Given the description of an element on the screen output the (x, y) to click on. 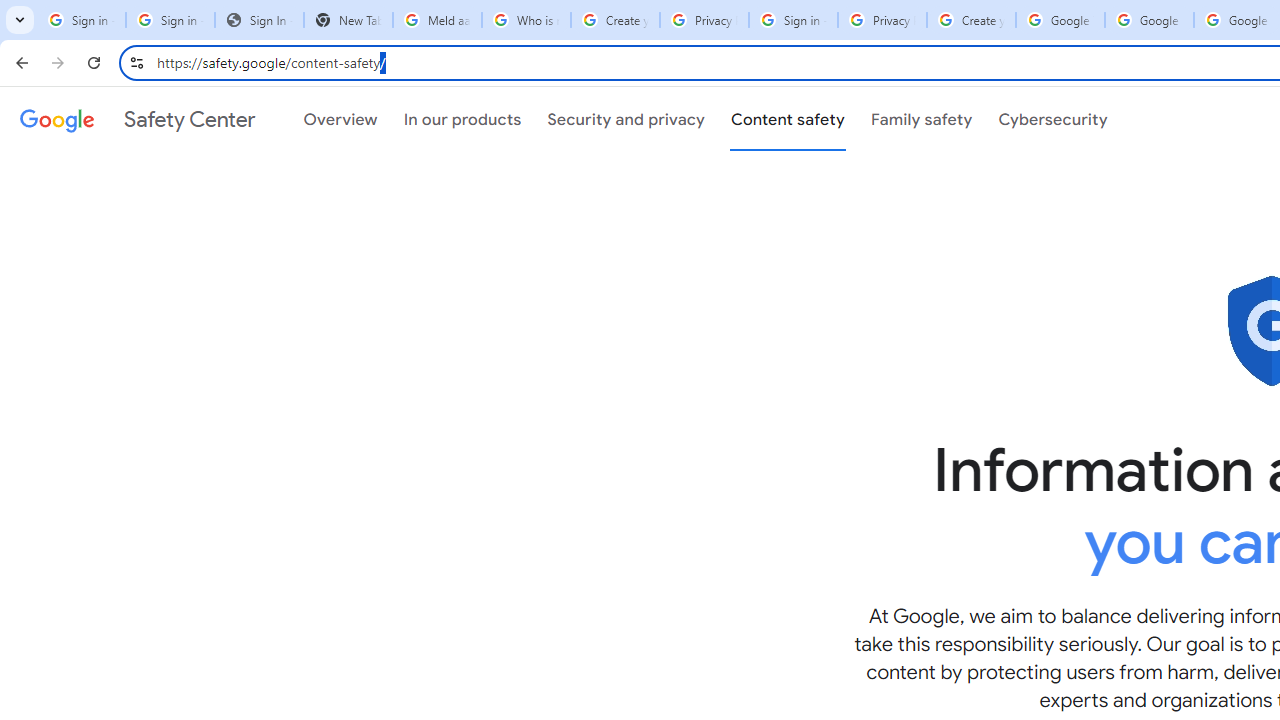
Back (19, 62)
Forward (57, 62)
Safety Center (137, 119)
In our products (462, 119)
Create your Google Account (971, 20)
Search tabs (20, 20)
Overview (340, 119)
Who is my administrator? - Google Account Help (526, 20)
Family safety (921, 119)
Sign in - Google Accounts (170, 20)
